Given the description of an element on the screen output the (x, y) to click on. 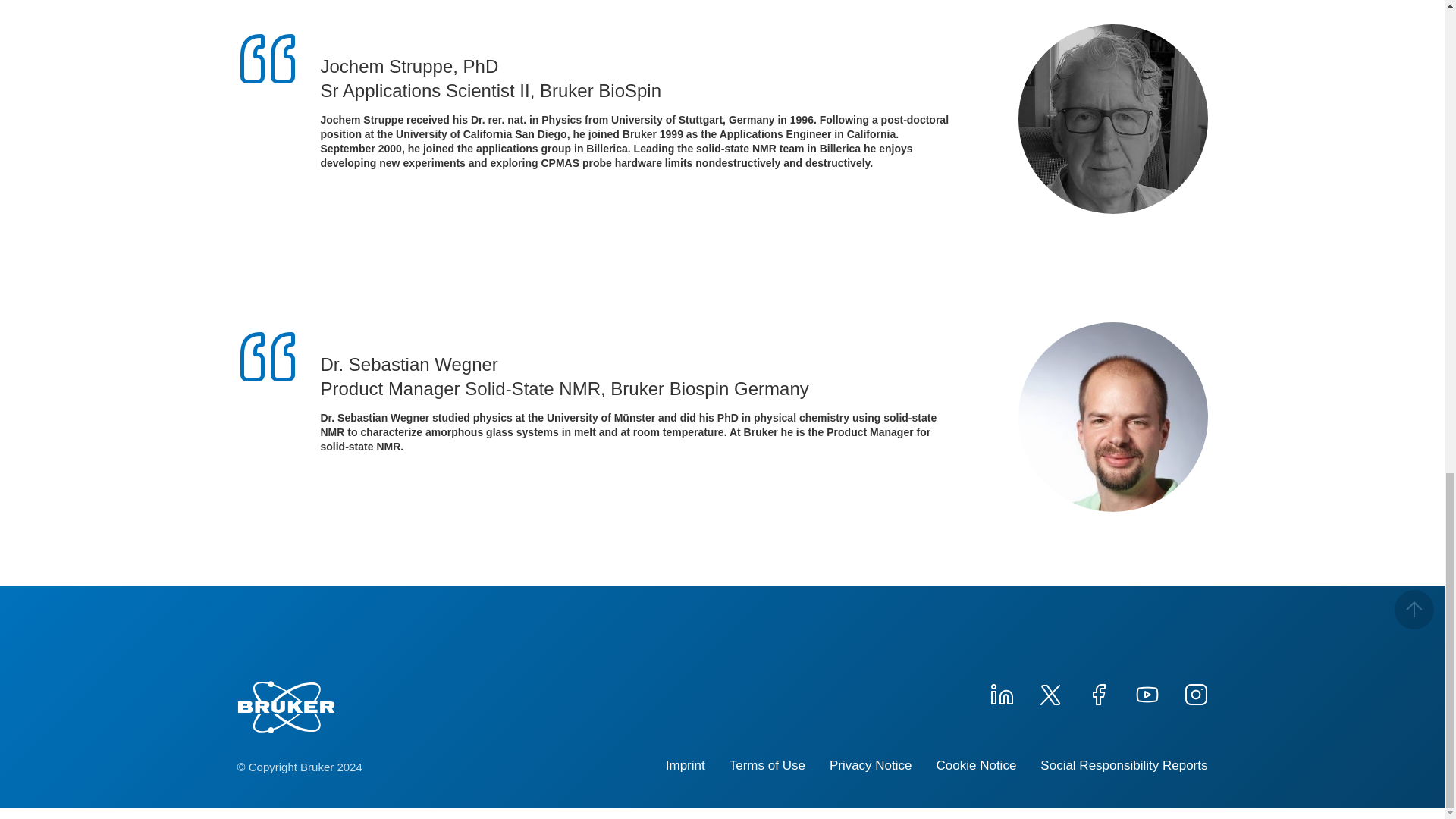
facebook (1097, 692)
Social Responsibility Reports (1124, 765)
Cookie Notice (976, 765)
youtube (1146, 692)
Terms of Use (767, 765)
twitter (1048, 692)
linkedin (1000, 692)
Privacy Notice (870, 765)
Imprint (684, 765)
instagram (1194, 692)
